Given the description of an element on the screen output the (x, y) to click on. 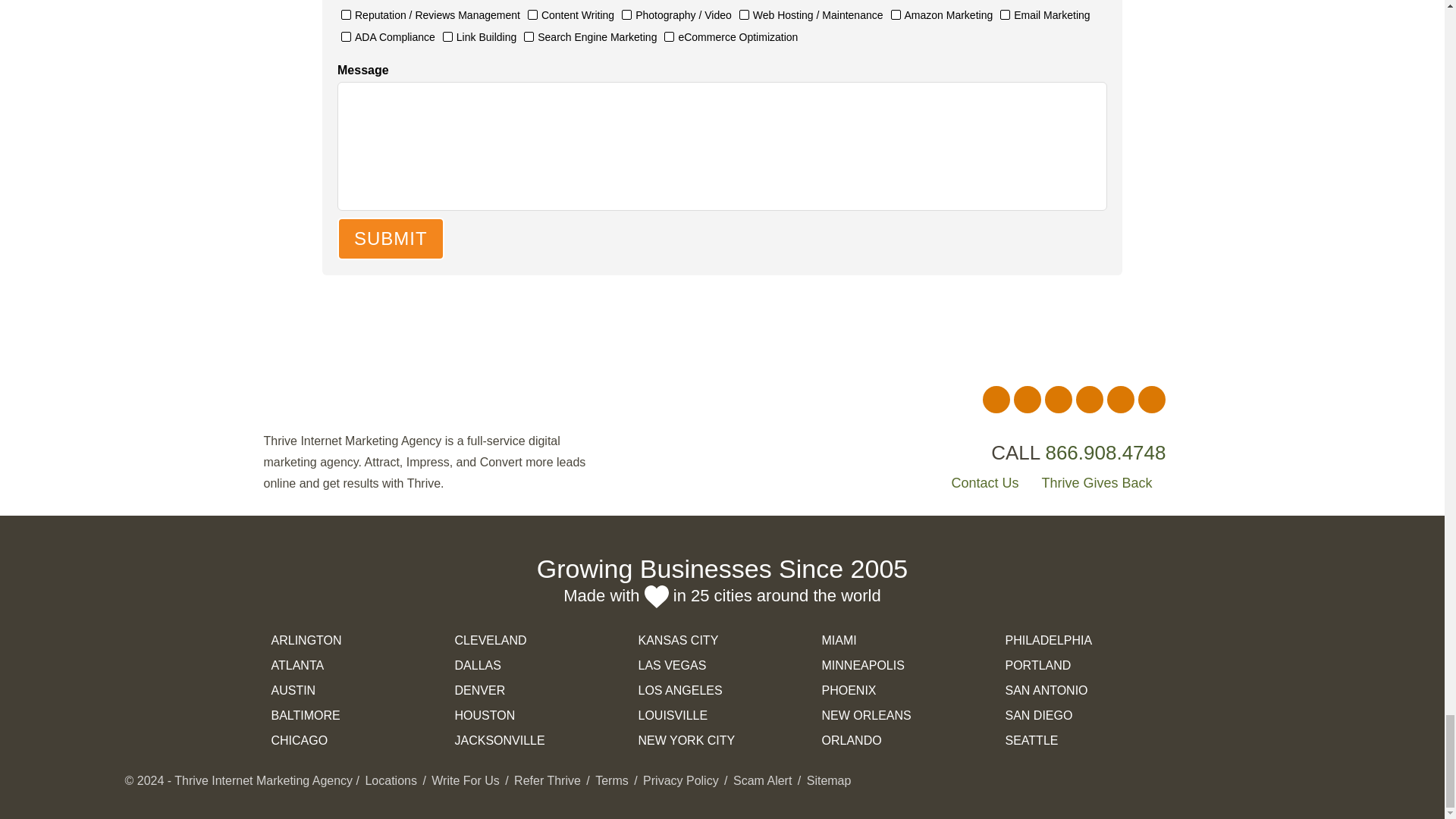
Submit (390, 238)
